Given the description of an element on the screen output the (x, y) to click on. 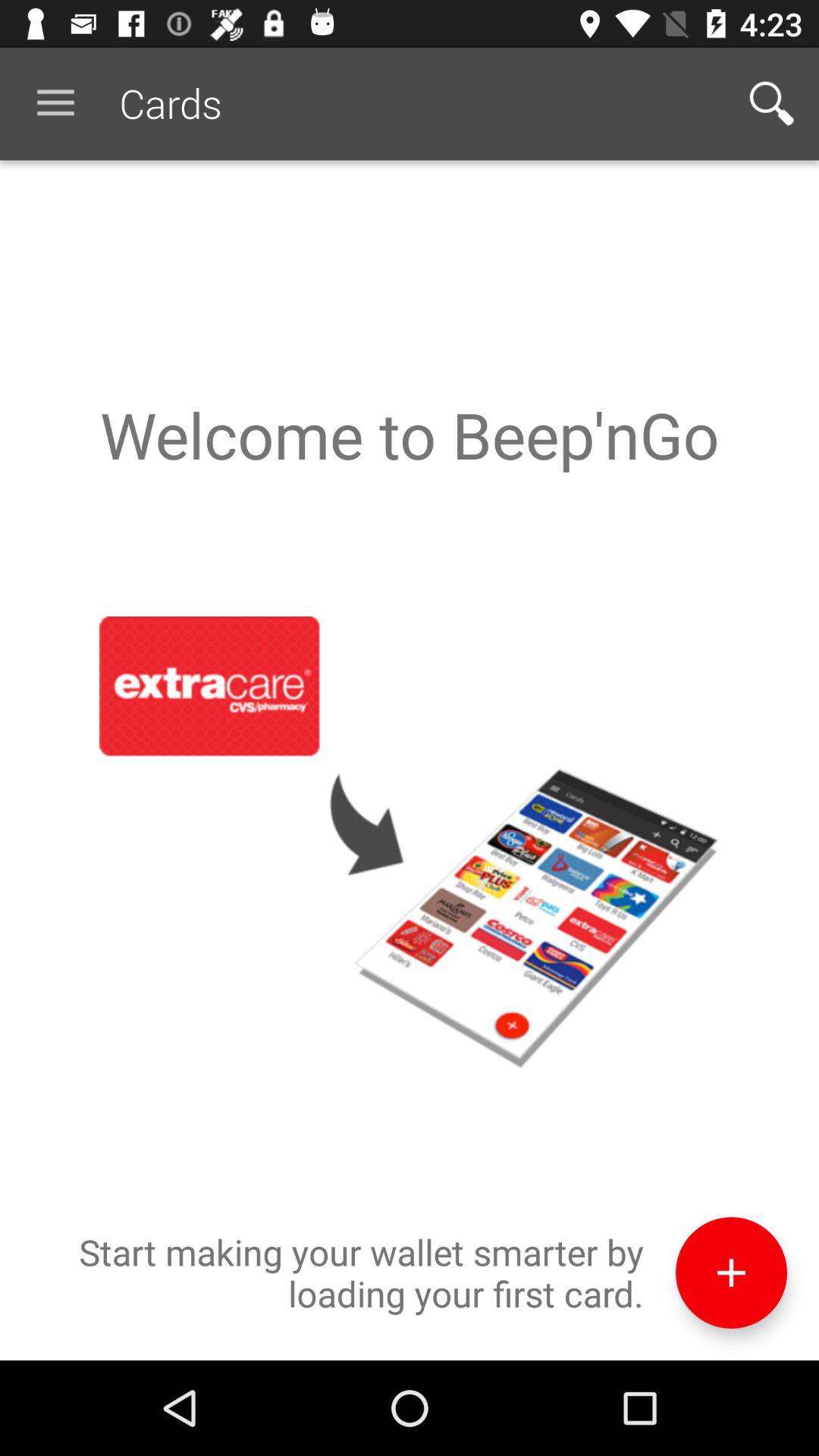
click icon to the right of start making your icon (731, 1272)
